Given the description of an element on the screen output the (x, y) to click on. 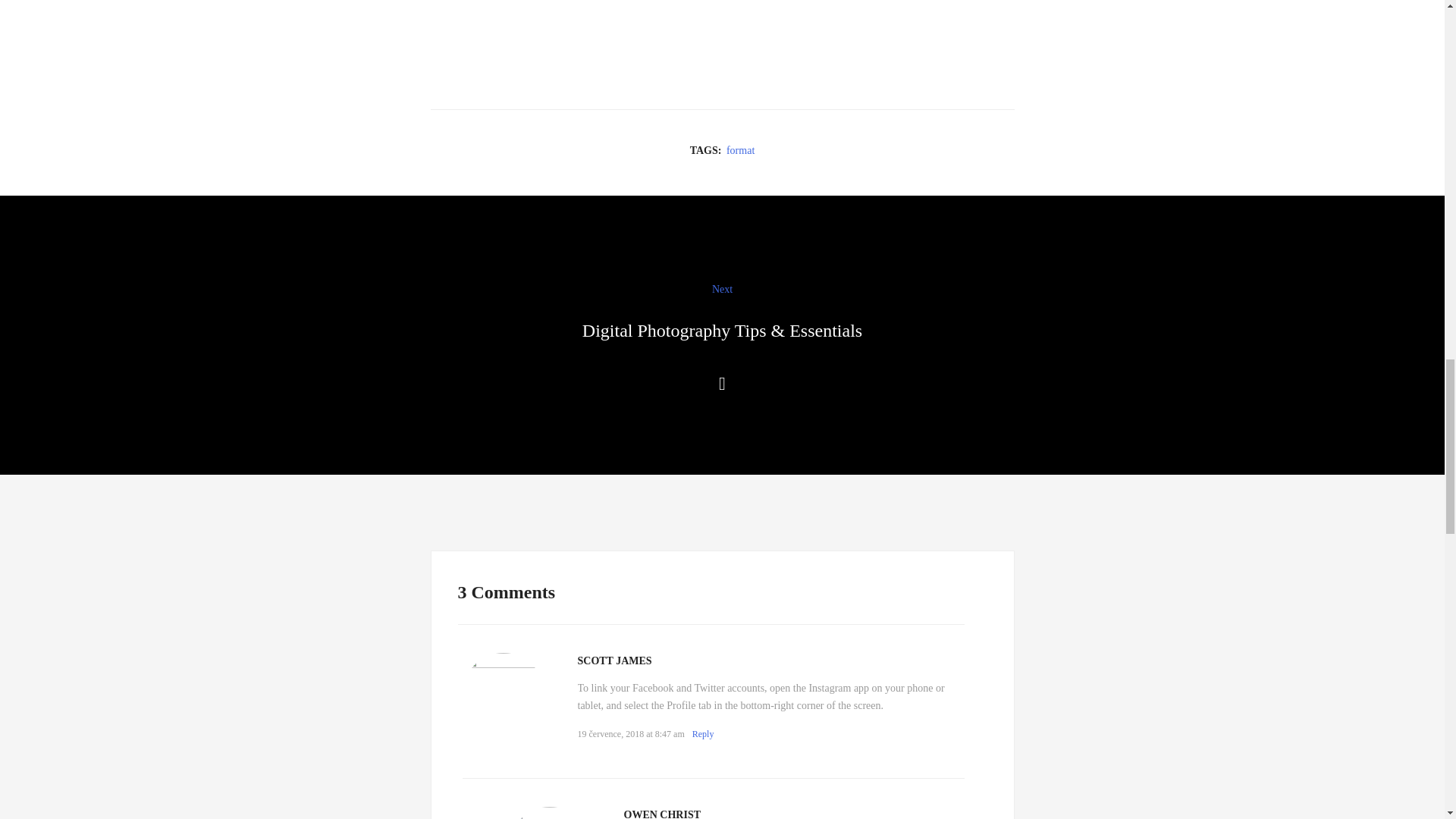
Reply (703, 733)
format (740, 150)
